Given the description of an element on the screen output the (x, y) to click on. 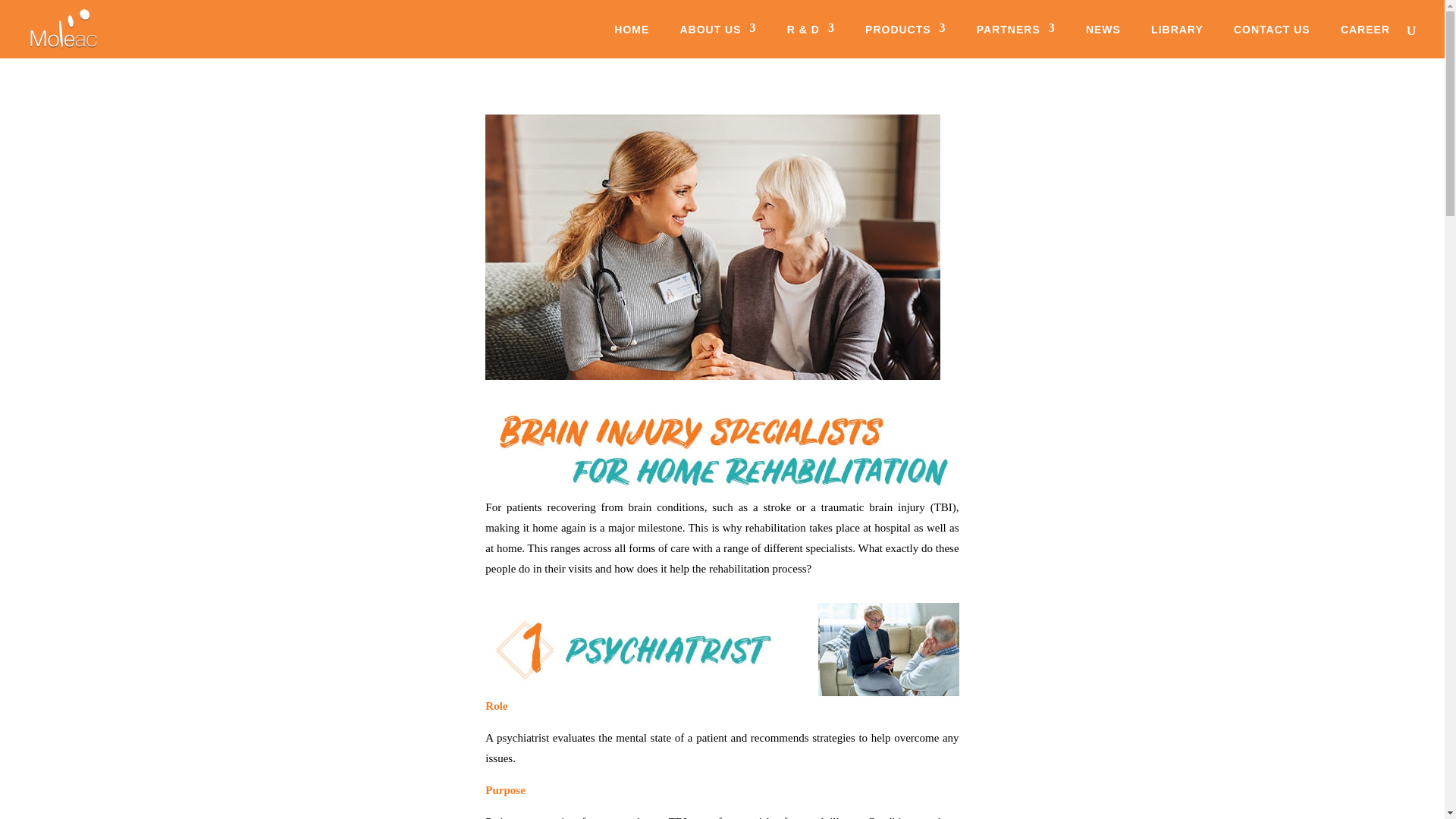
CONTACT US (1271, 41)
ABOUT US (717, 41)
HOME (631, 41)
LIBRARY (1177, 41)
PRODUCTS (905, 41)
NEWS (1103, 41)
CAREER (1365, 41)
PARTNERS (1015, 41)
